Given the description of an element on the screen output the (x, y) to click on. 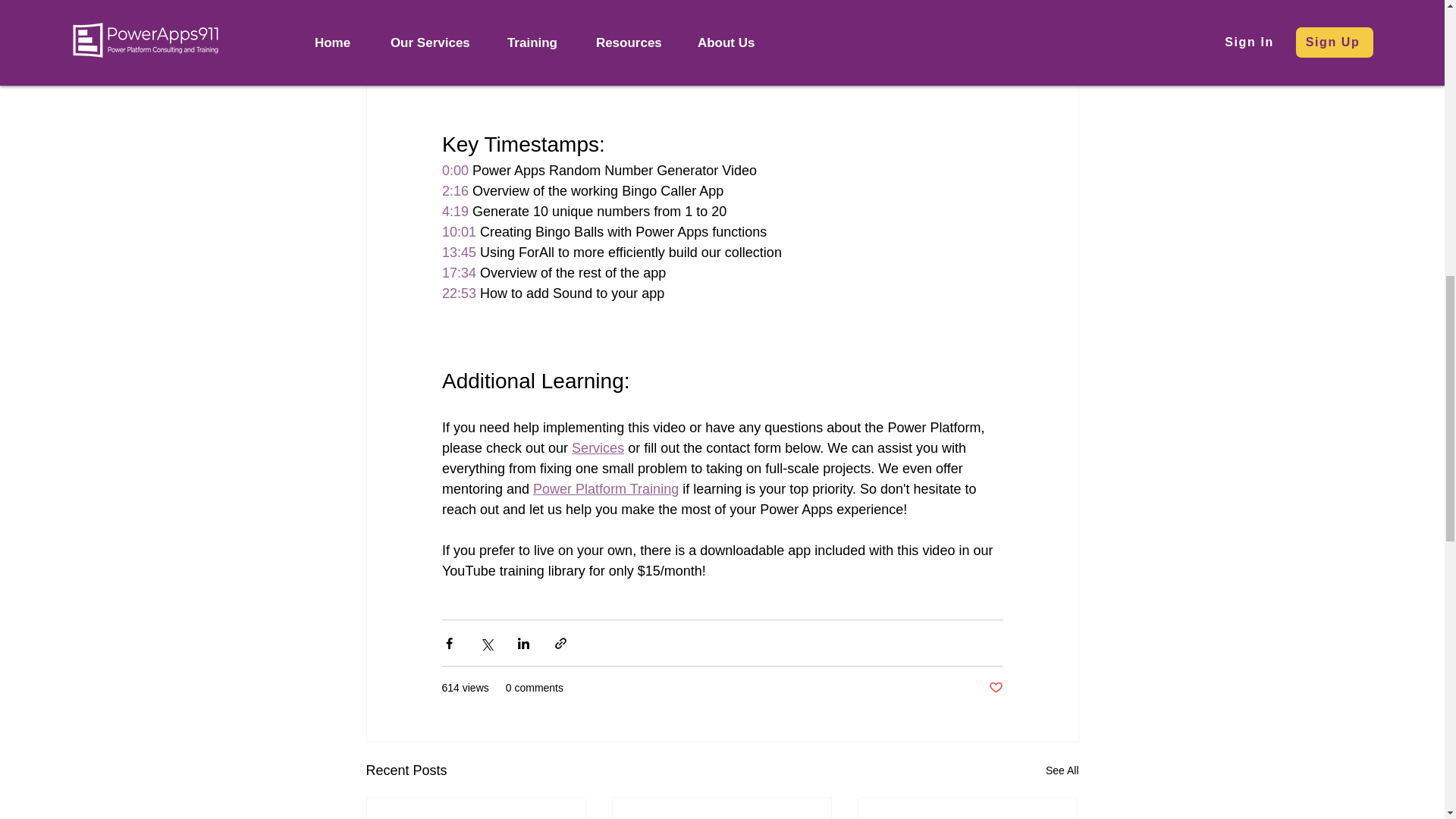
10:01 (458, 231)
17:34 (458, 272)
4:19 (454, 211)
13:45 (458, 252)
0:00 (454, 170)
Power Platform Training (605, 488)
22:53 (458, 293)
2:16 (454, 191)
See All (1061, 771)
Services (598, 447)
Post not marked as liked (995, 688)
